Given the description of an element on the screen output the (x, y) to click on. 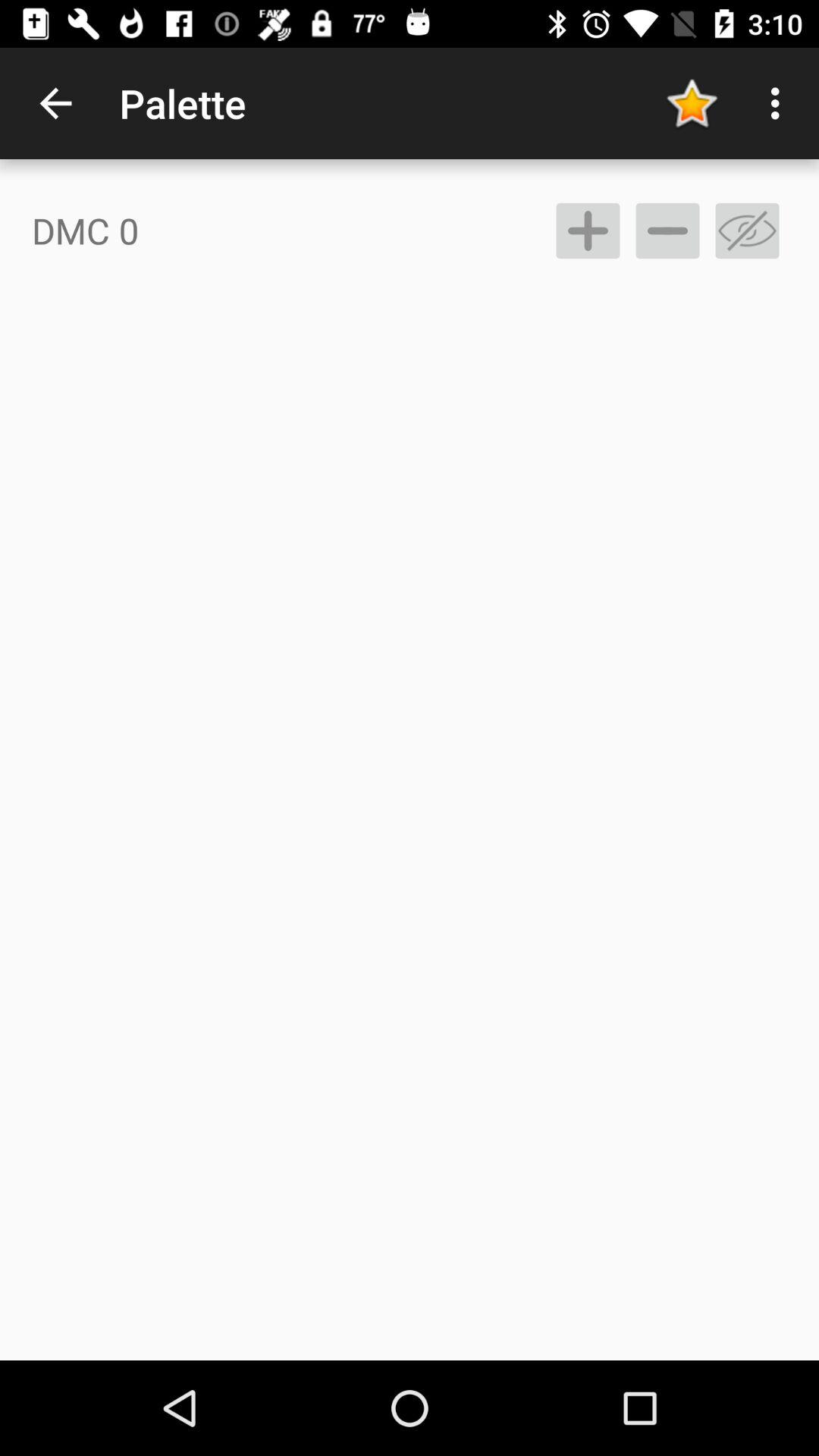
click to subtract (667, 230)
